Given the description of an element on the screen output the (x, y) to click on. 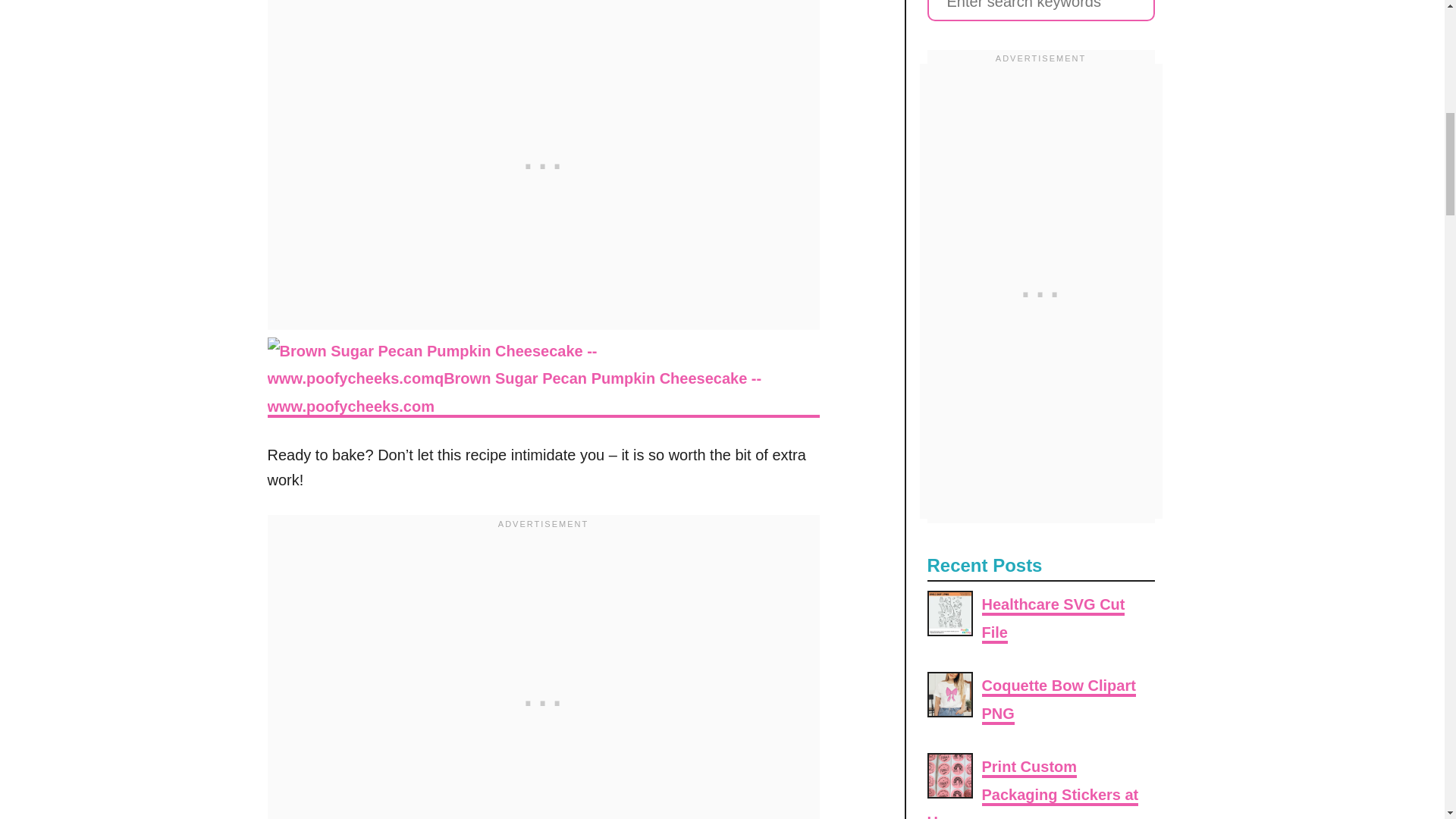
Search for: (1040, 10)
Brown Sugar Pecan Pumpkin Cheesecake -- www.poofycheeks.com (542, 378)
